Given the description of an element on the screen output the (x, y) to click on. 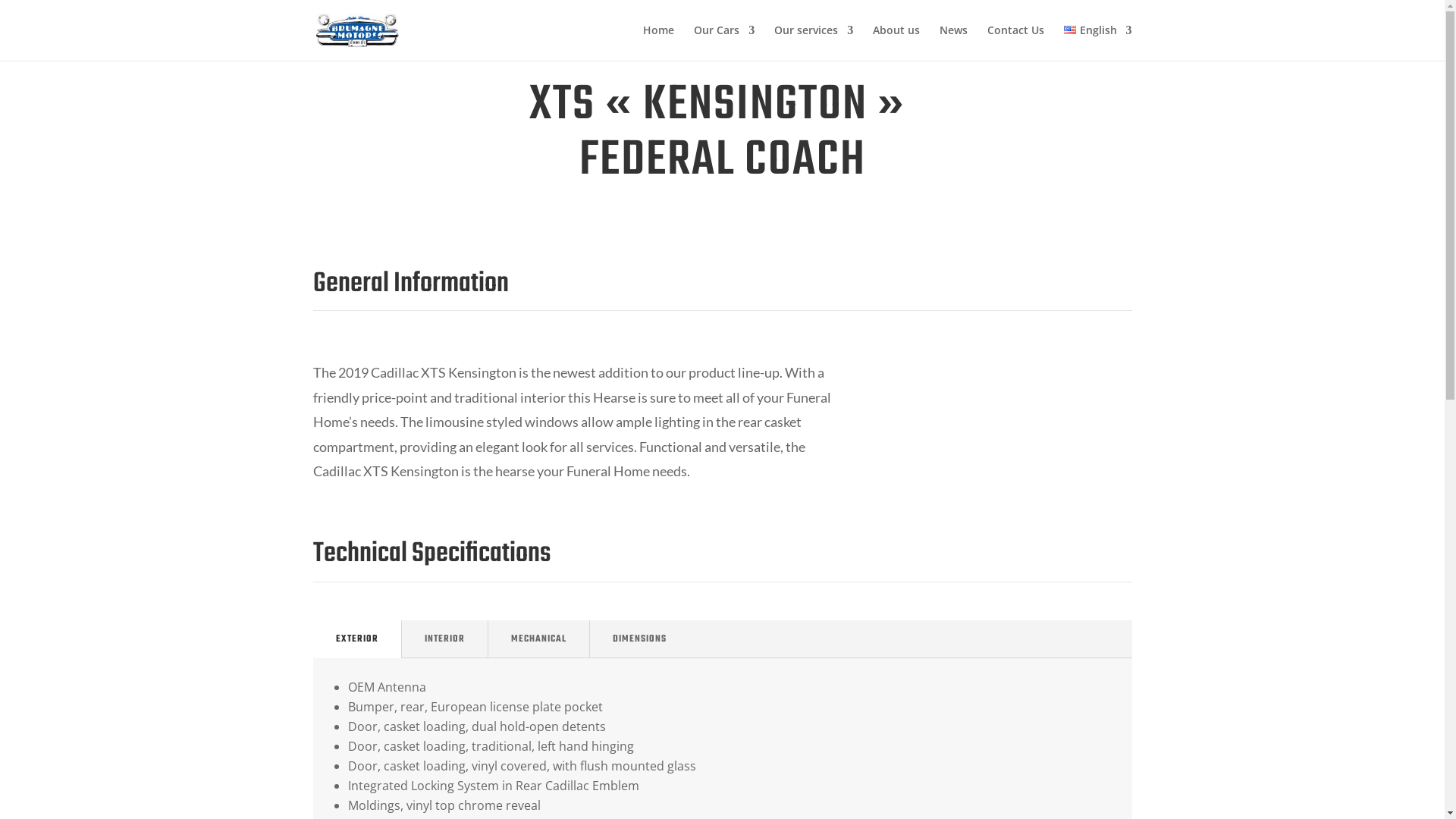
Contact Us Element type: text (1015, 42)
Our services Element type: text (813, 42)
DIMENSIONS Element type: text (639, 639)
About us Element type: text (895, 42)
EXTERIOR Element type: text (356, 639)
Our Cars Element type: text (723, 42)
Home Element type: text (658, 42)
MECHANICAL Element type: text (538, 639)
INTERIOR Element type: text (444, 639)
English Element type: text (1097, 42)
News Element type: text (953, 42)
